Given the description of an element on the screen output the (x, y) to click on. 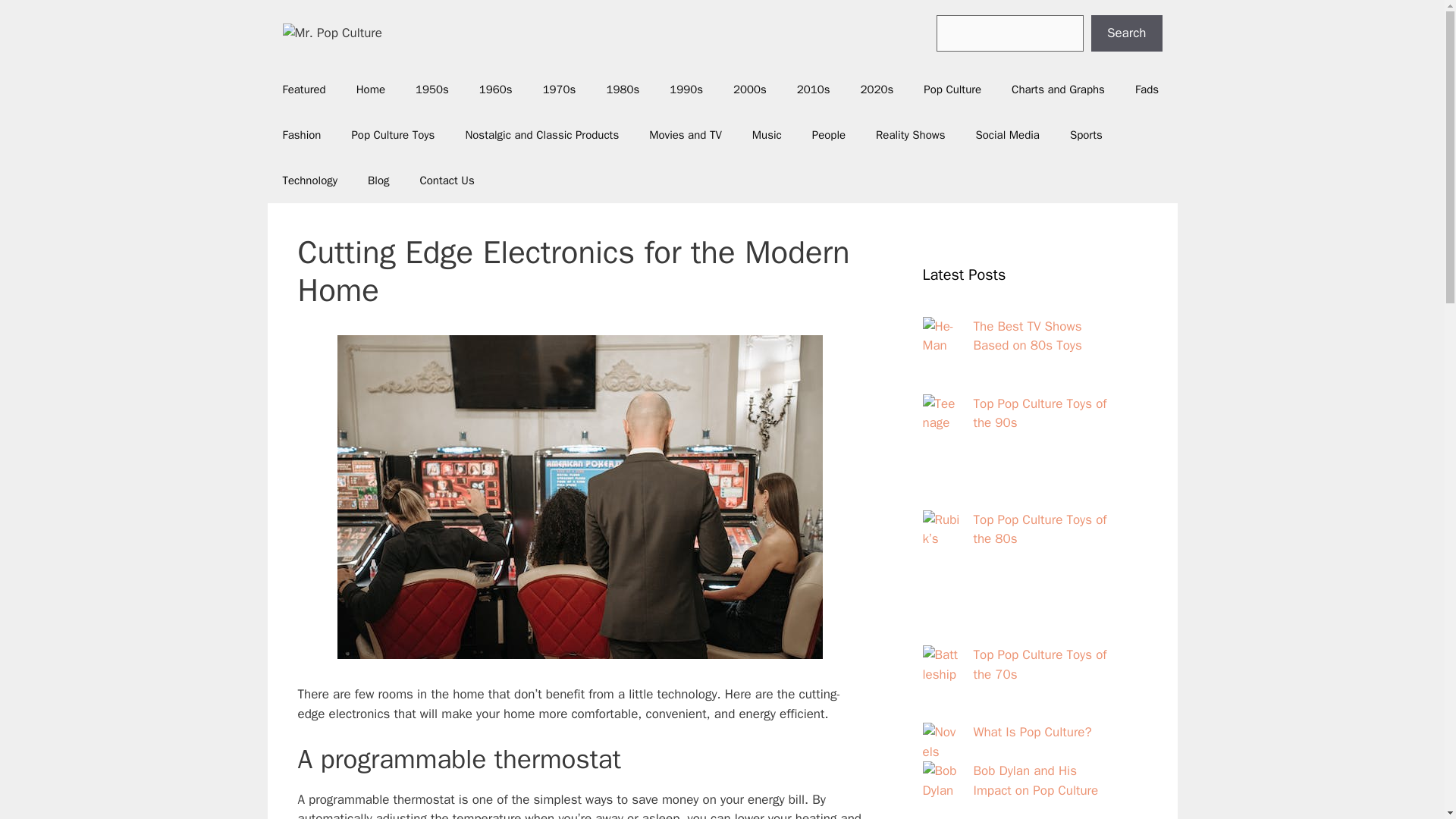
Reality Shows (909, 135)
Fashion (301, 135)
1970s (559, 89)
Fads (1146, 89)
Sports (1086, 135)
People (828, 135)
1960s (495, 89)
Social Media (1006, 135)
Top Pop Culture Toys of the 90s (1040, 413)
Pop Culture Toys (392, 135)
Home (370, 89)
2000s (749, 89)
1990s (685, 89)
2020s (876, 89)
1950s (432, 89)
